Given the description of an element on the screen output the (x, y) to click on. 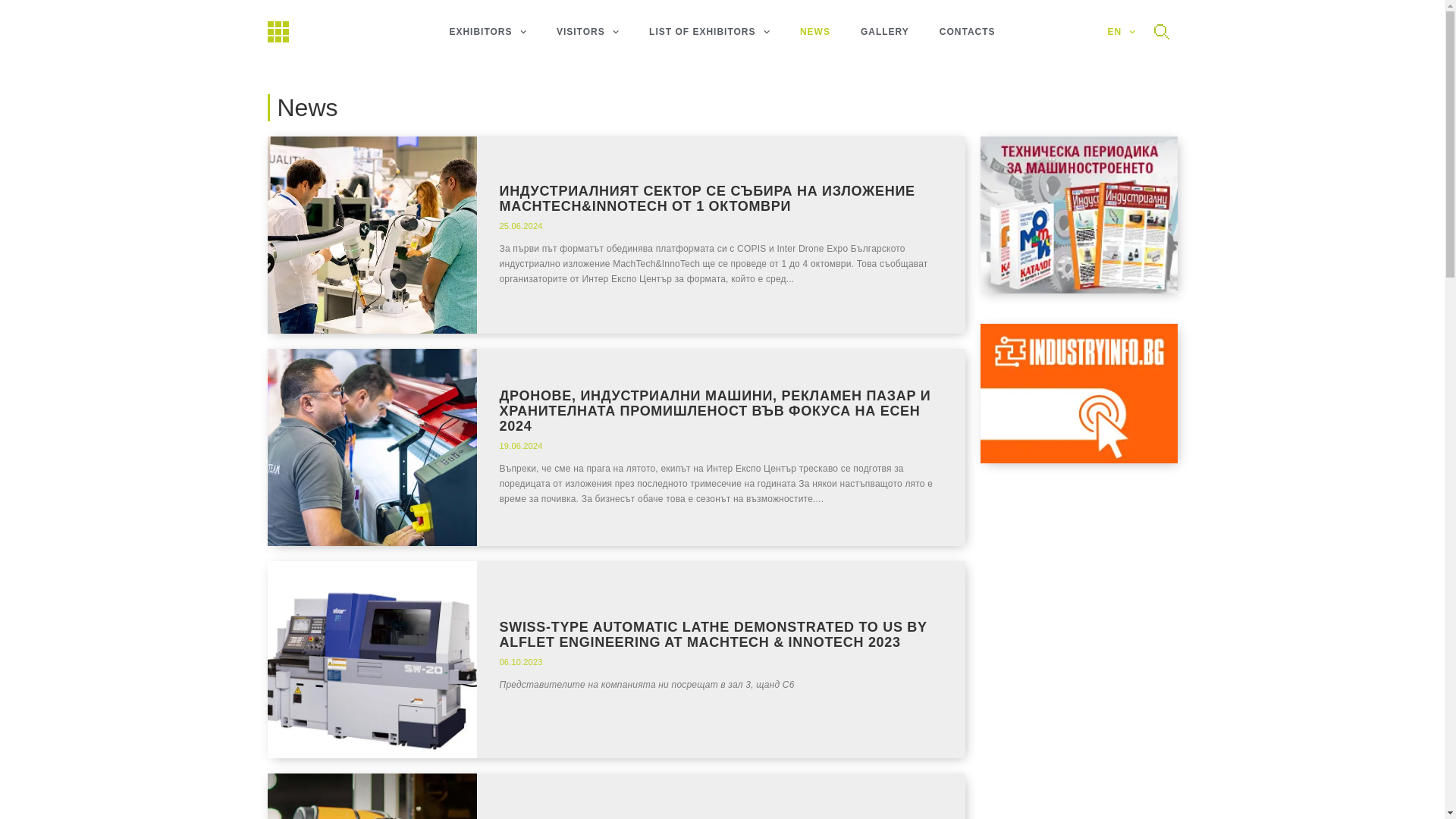
EXHIBITORS (487, 4)
VISITORS (587, 31)
EN (1120, 31)
LIST OF EXHIBITORS (708, 31)
